Given the description of an element on the screen output the (x, y) to click on. 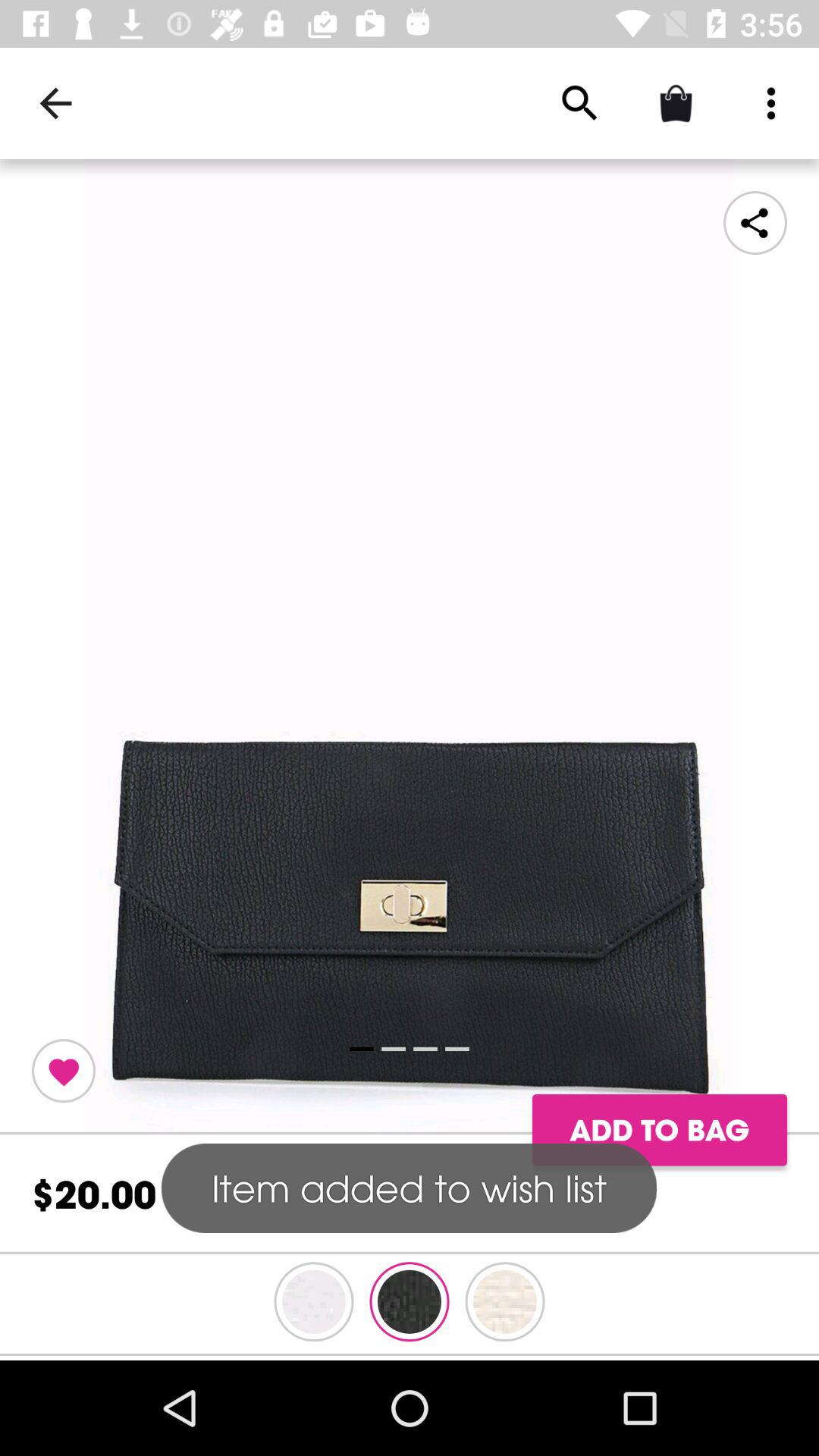
share product (755, 222)
